Given the description of an element on the screen output the (x, y) to click on. 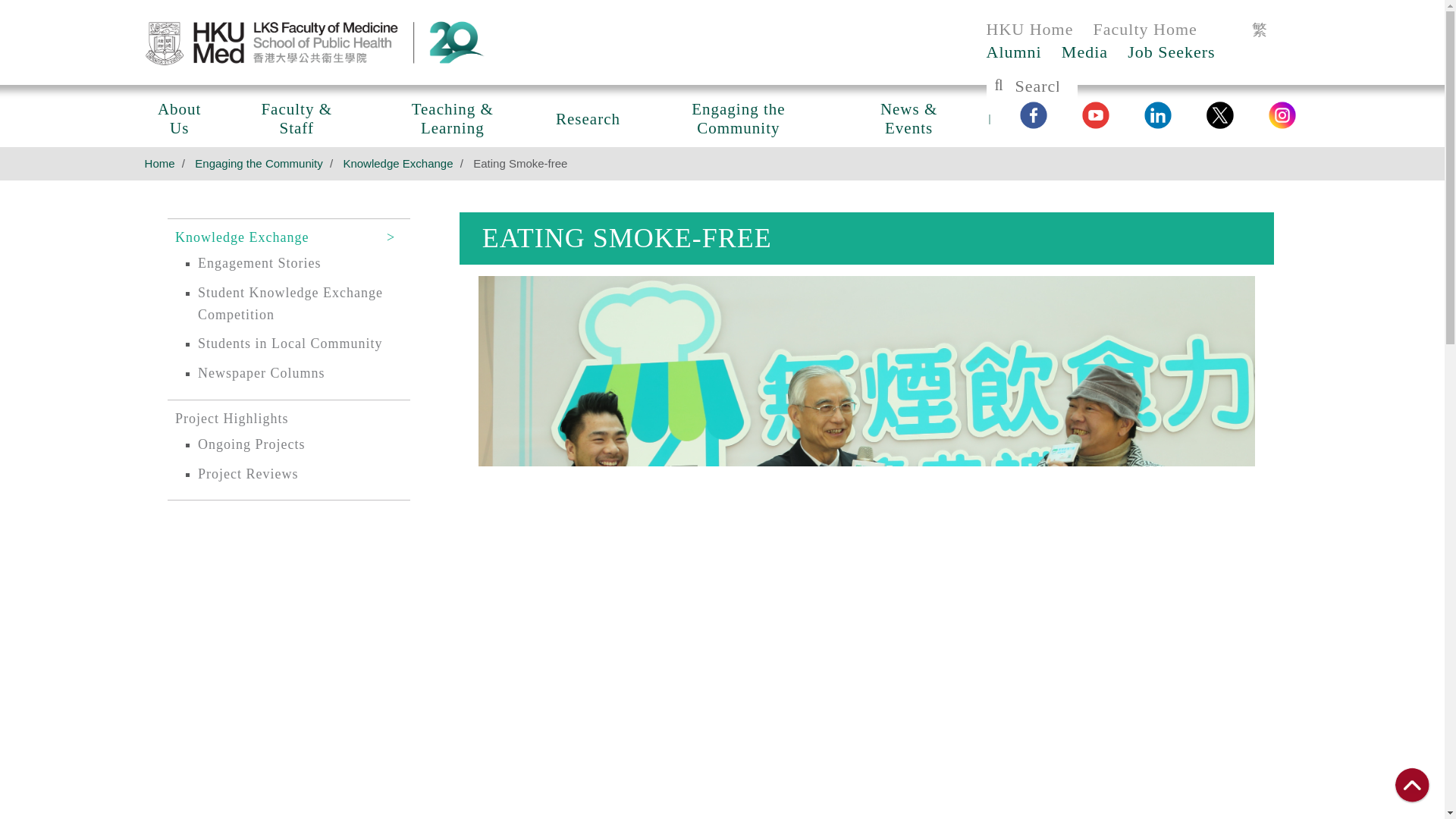
HKU Home (1029, 28)
Research (588, 115)
Job Seekers (1170, 51)
Faculty Home (1144, 28)
Alumni (1013, 51)
About Us (179, 116)
Media (1084, 51)
